Given the description of an element on the screen output the (x, y) to click on. 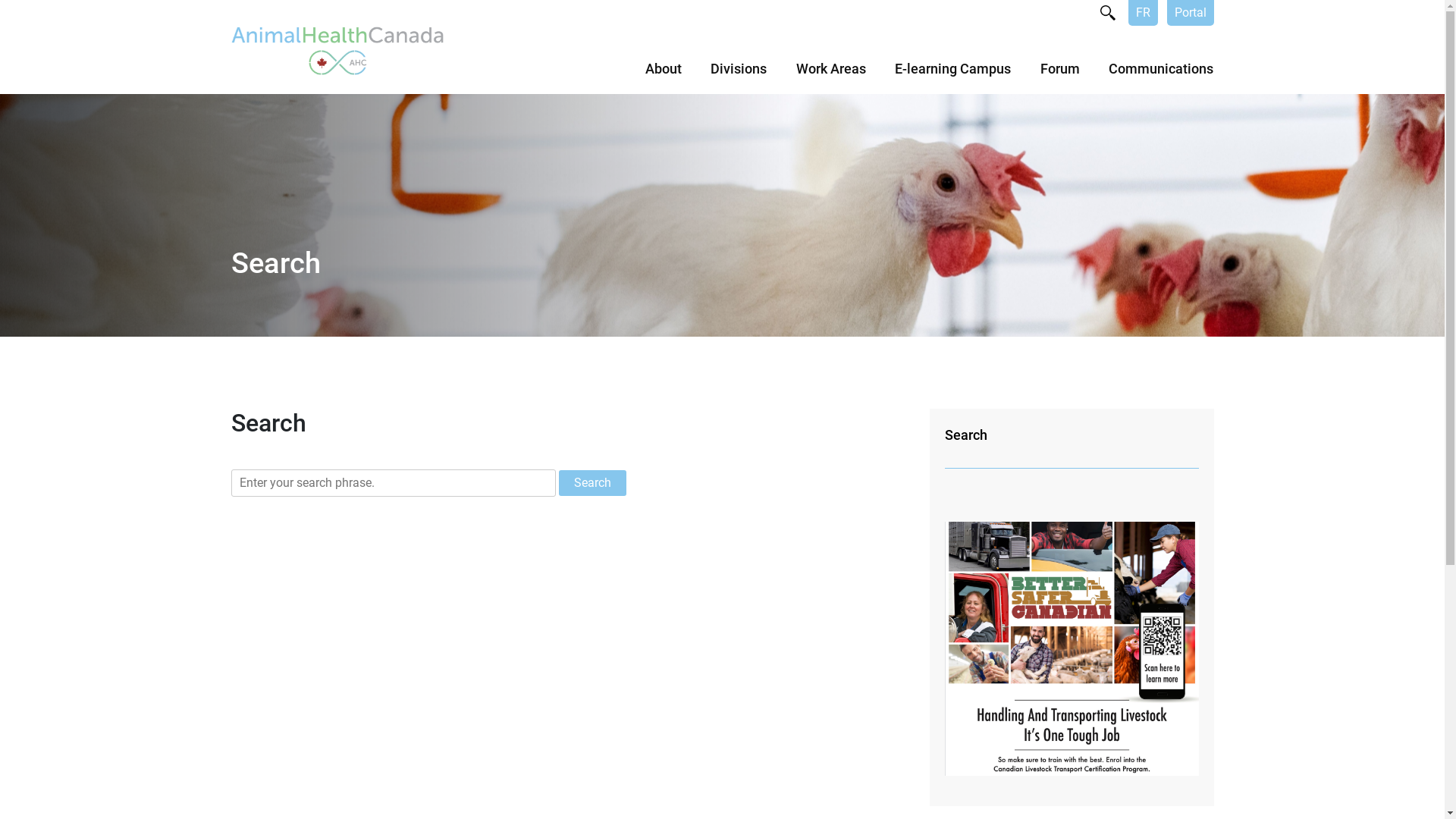
Search Element type: text (1071, 434)
Forum Element type: text (1059, 76)
About Element type: text (662, 76)
Divisions Element type: text (738, 76)
Communications Element type: text (1160, 76)
FR Element type: text (1142, 12)
Portal Element type: text (1189, 12)
search Element type: text (1106, 12)
E-learning Campus Element type: text (952, 76)
Search Element type: text (591, 482)
Work Areas Element type: text (831, 76)
